Given the description of an element on the screen output the (x, y) to click on. 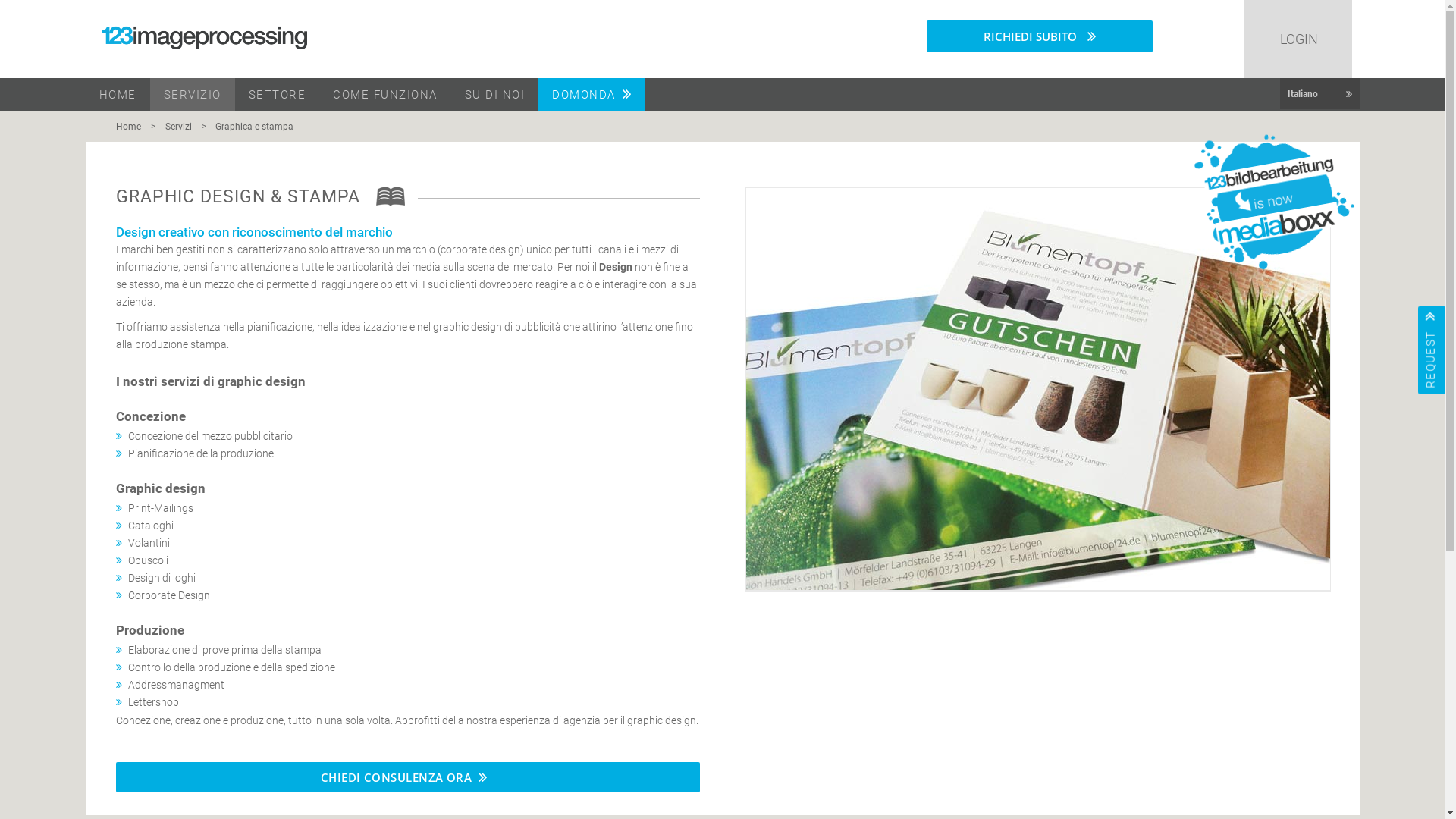
Servizi Element type: text (178, 126)
CHIEDI CONSULENZA ORA Element type: text (407, 777)
SERVIZIO Element type: text (192, 94)
Home Element type: text (131, 126)
COME FUNZIONA Element type: text (385, 94)
SETTORE Element type: text (277, 94)
SU DI NOI Element type: text (494, 94)
RICHIEDI SUBITO Element type: text (1039, 36)
Italiano Element type: text (1319, 93)
DOMONDA Element type: text (591, 94)
 LOGIN Element type: text (1297, 39)
HOME Element type: text (116, 94)
